Given the description of an element on the screen output the (x, y) to click on. 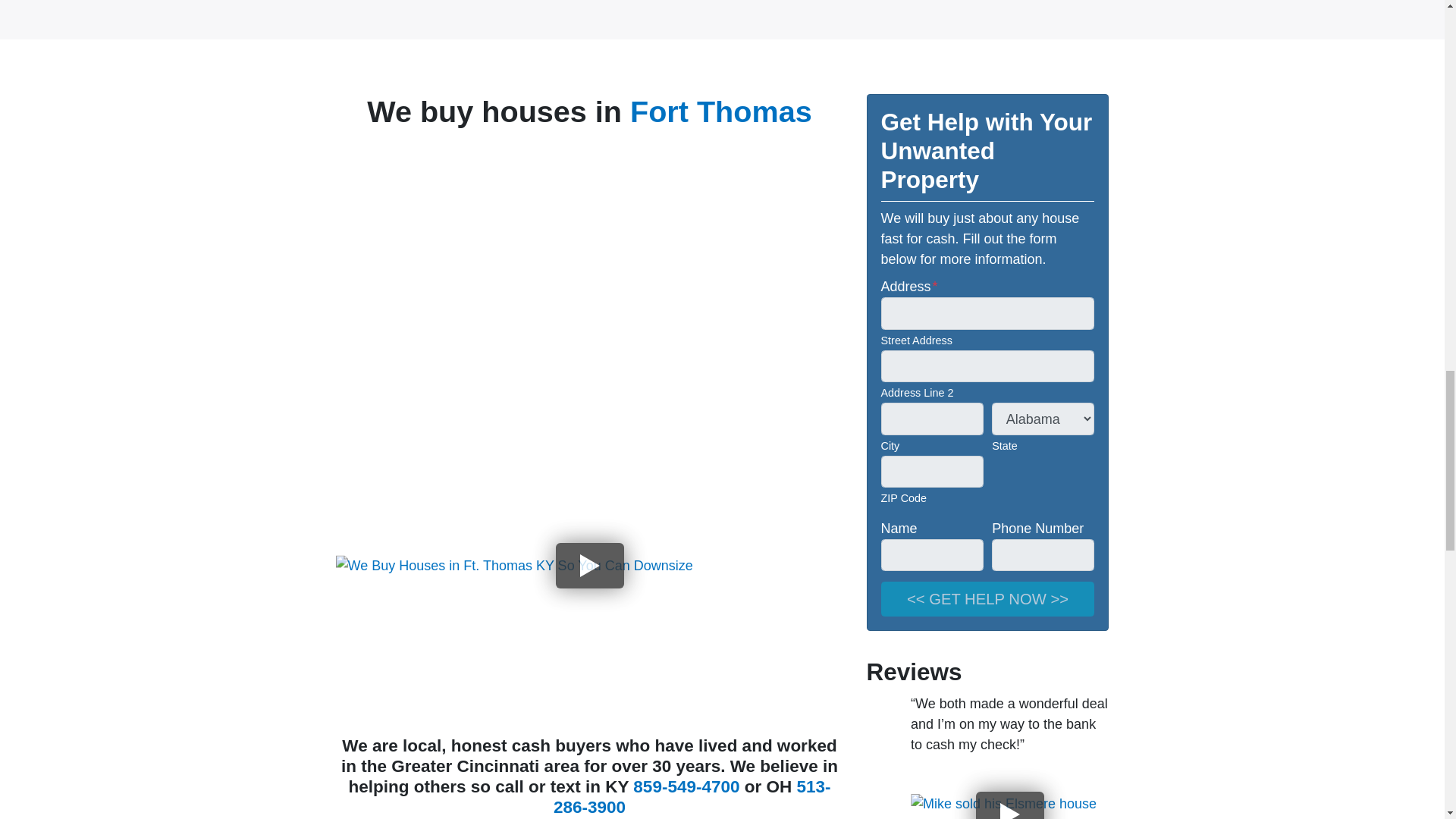
513-286-3900 (692, 796)
as (795, 111)
Fort Thom (704, 111)
859-549-4700 (686, 786)
